Given the description of an element on the screen output the (x, y) to click on. 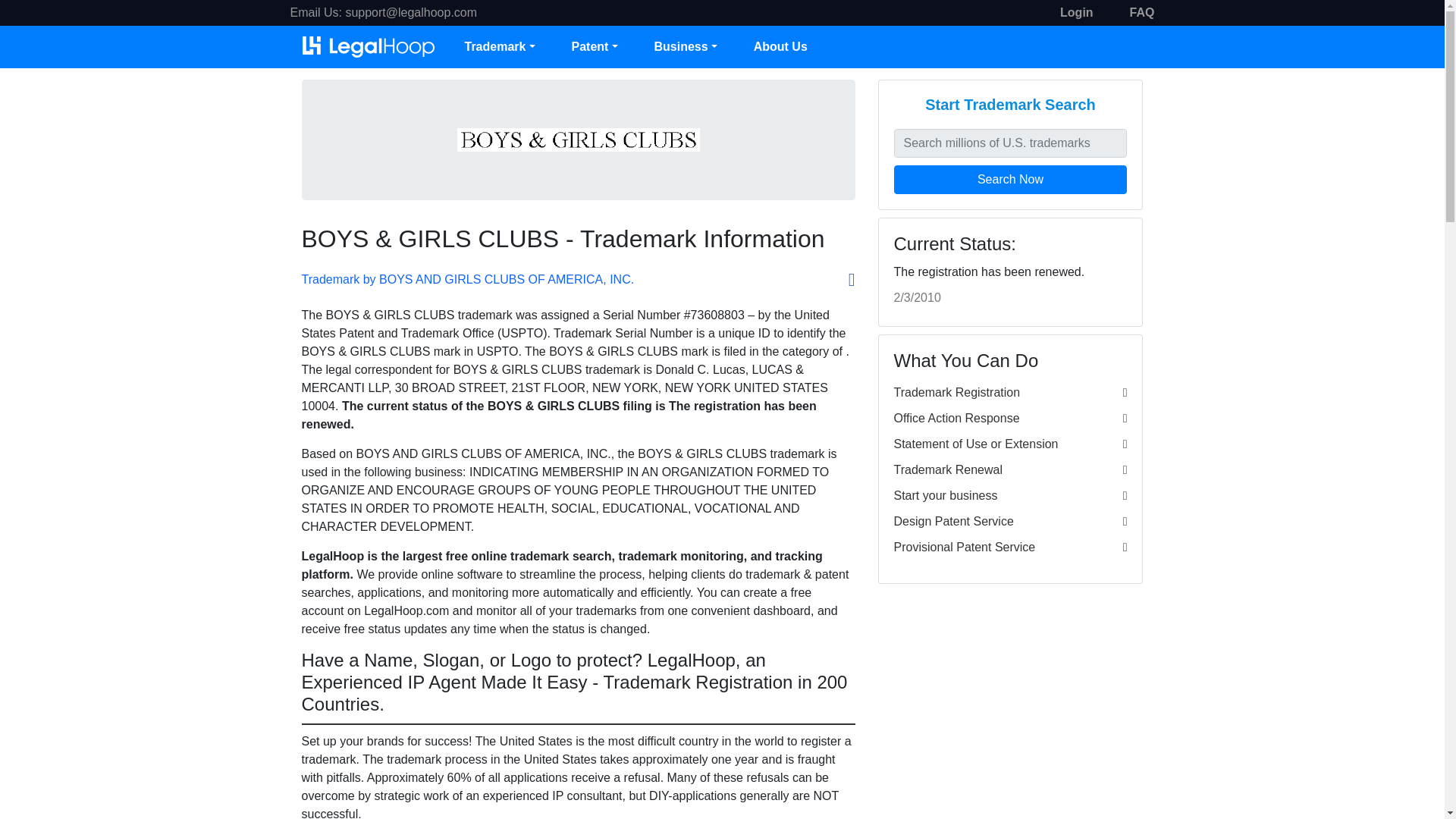
Patent (594, 46)
Business (684, 46)
About Us (780, 46)
FAQ (1141, 11)
Login (1076, 11)
Trademark (499, 46)
